Given the description of an element on the screen output the (x, y) to click on. 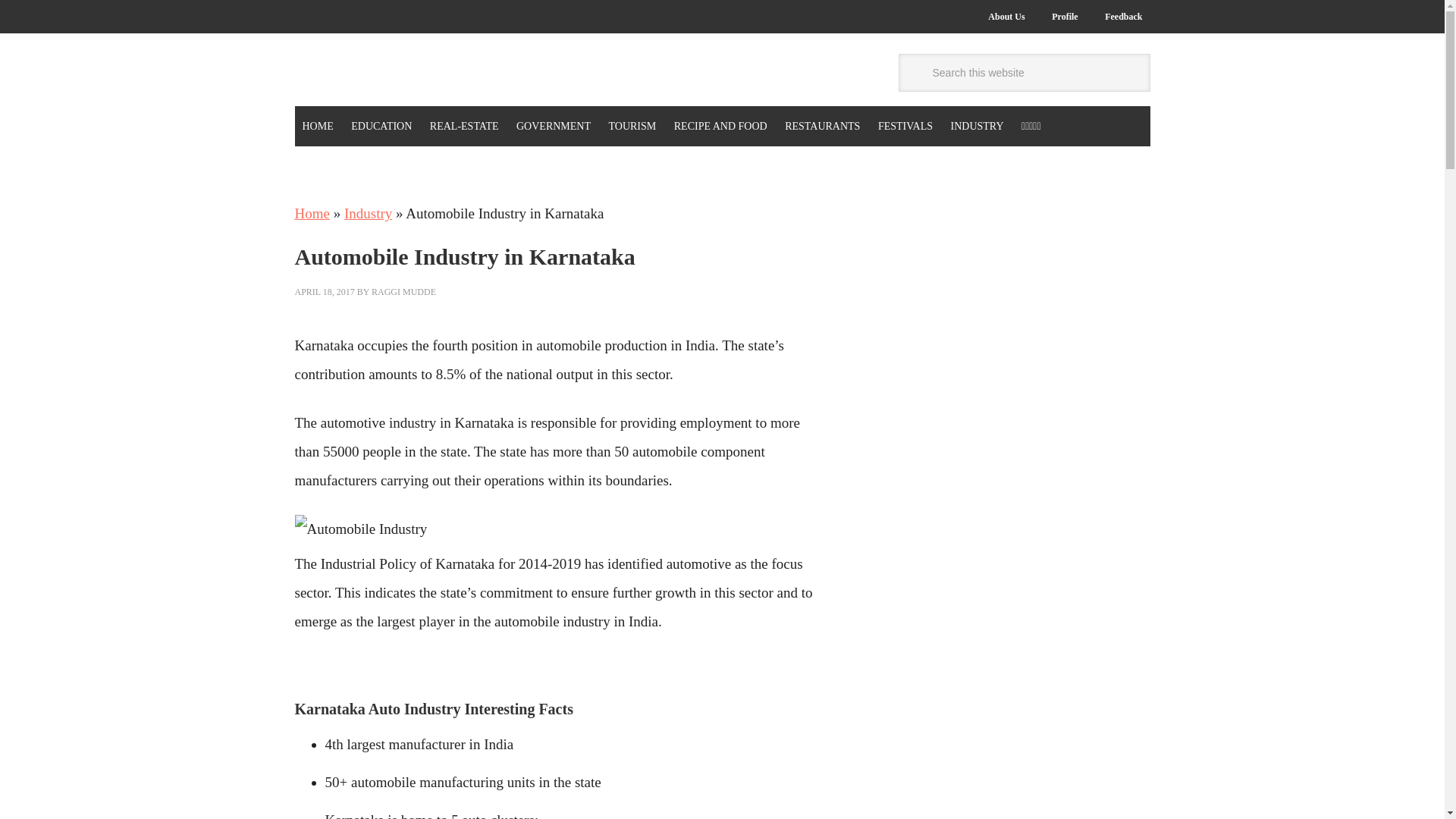
RESTAURANTS (822, 126)
RAGGI MUDDE (403, 291)
REAL-ESTATE (464, 126)
Automobile industry (360, 529)
RECIPE AND FOOD (720, 126)
Feedback (1123, 16)
HOME (317, 126)
About Us (1005, 16)
TOURISM (631, 126)
GOVERNMENT (553, 126)
